Given the description of an element on the screen output the (x, y) to click on. 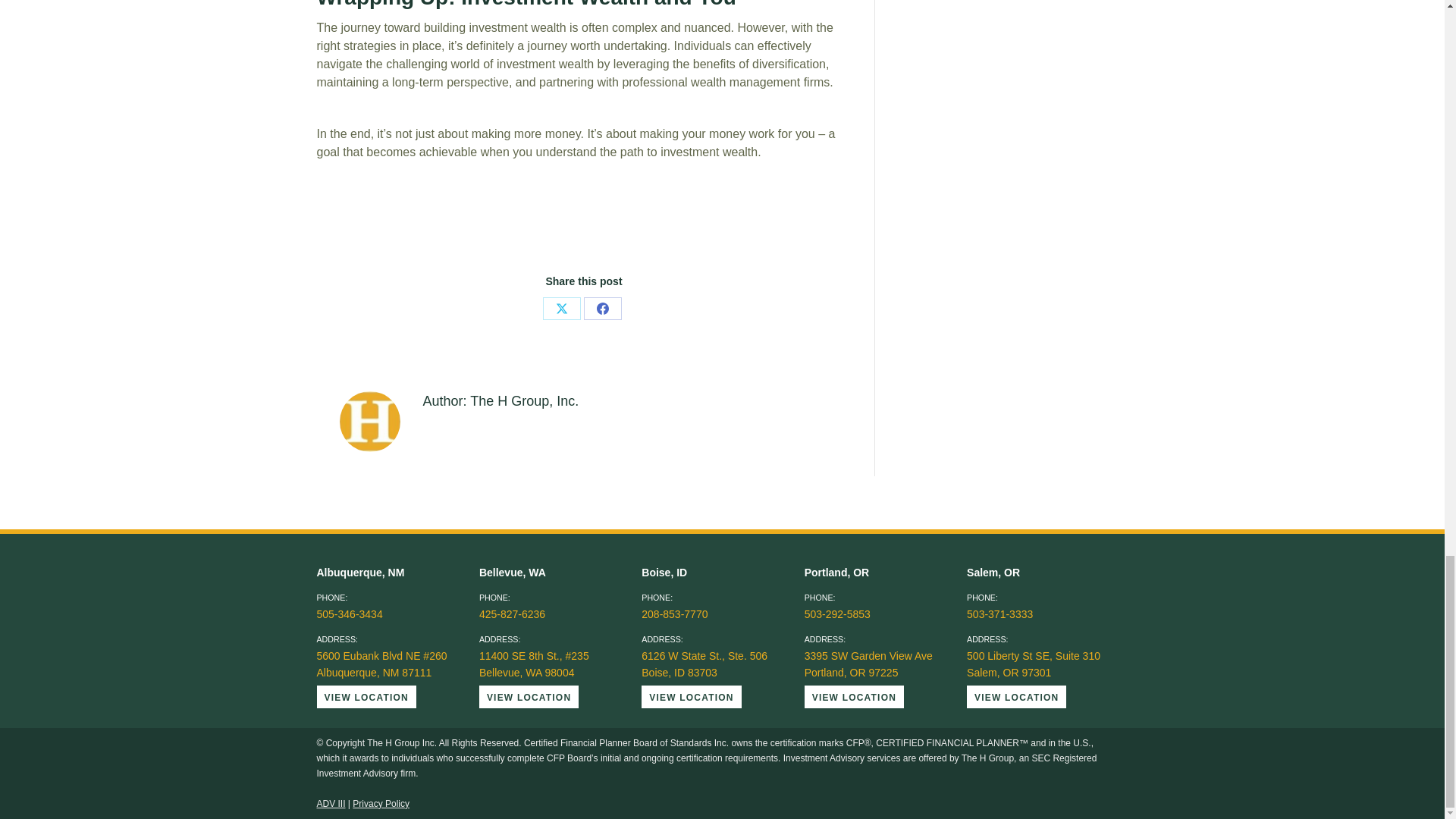
Facebook (602, 308)
X (561, 308)
